Given the description of an element on the screen output the (x, y) to click on. 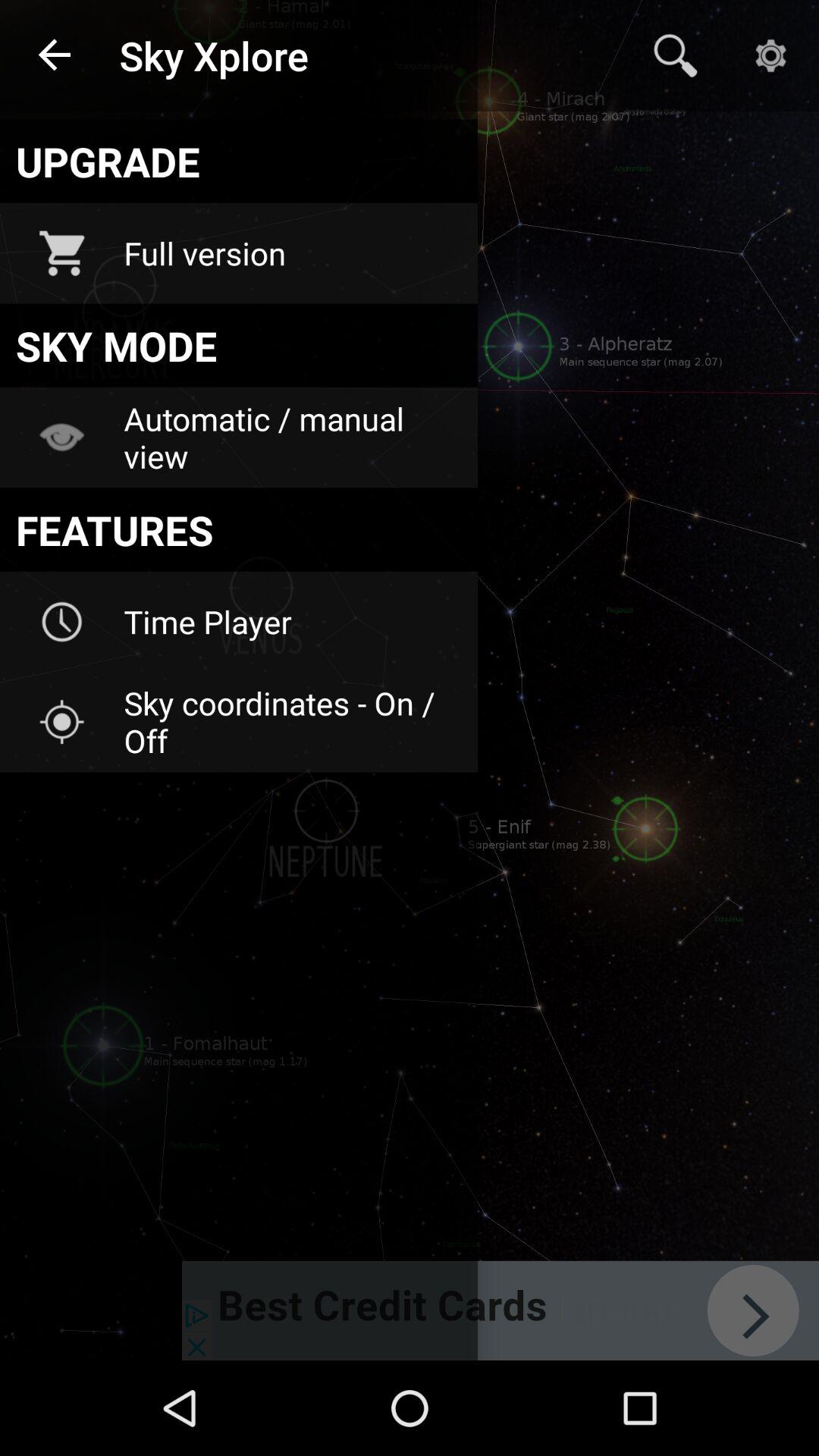
turn off item above the features (290, 437)
